Given the description of an element on the screen output the (x, y) to click on. 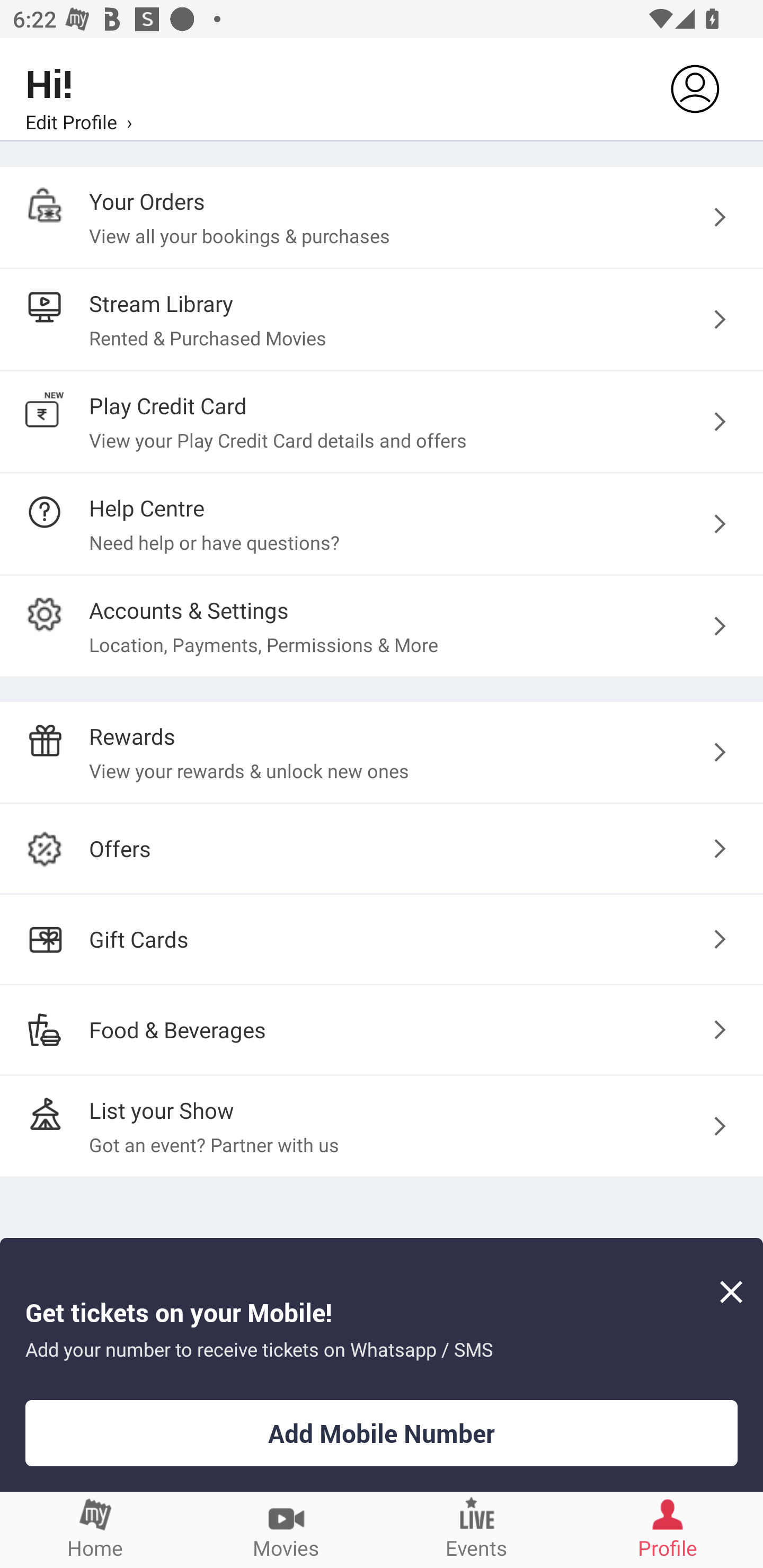
Edit Profile  › (78, 121)
Your Orders View all your bookings & purchases (381, 217)
Stream Library Rented & Purchased Movies (381, 319)
Help Centre Need help or have questions? (381, 523)
Rewards View your rewards & unlock new ones (381, 752)
Offers (381, 848)
Gift Cards (381, 939)
Food & Beverages (381, 1029)
List your Show Got an event? Partner with us (381, 1125)
Add Mobile Number (381, 1432)
Home (95, 1529)
Movies (285, 1529)
Events (476, 1529)
Profile (667, 1529)
